Given the description of an element on the screen output the (x, y) to click on. 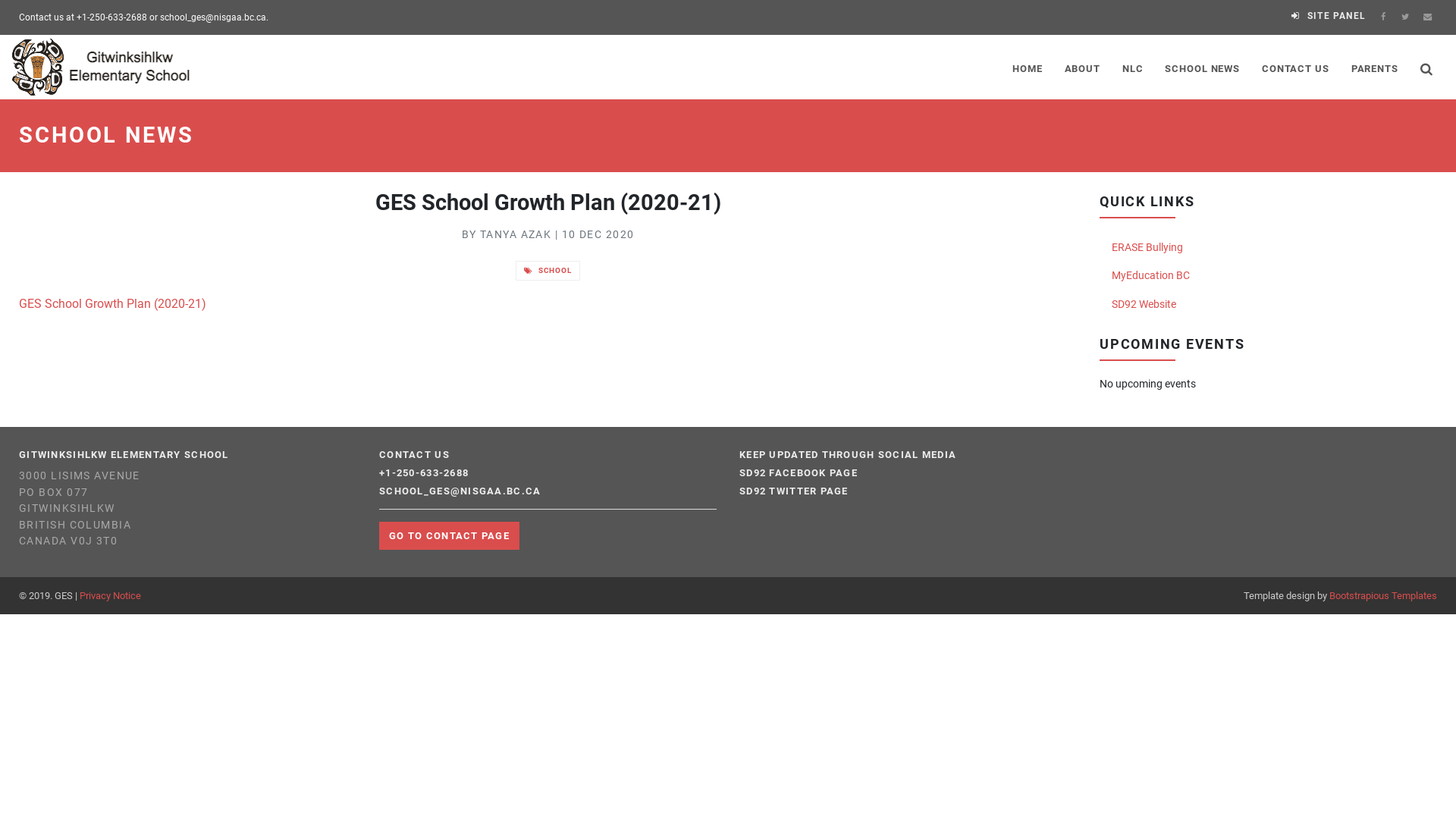
SCHOOL NEWS Element type: text (1202, 66)
Privacy Notice Element type: text (110, 595)
SCHOOL Element type: text (547, 270)
GO TO CONTACT PAGE Element type: text (449, 535)
SD92 FACEBOOK PAGE Element type: text (798, 472)
GES School Growth Plan (2020-21) Element type: text (112, 303)
ABOUT Element type: text (1081, 66)
CONTACT US Element type: text (1295, 66)
Bootstrapious Templates Element type: text (1383, 595)
SITE PANEL Element type: text (1328, 15)
MyEducation BC Element type: text (1268, 275)
NLC Element type: text (1131, 66)
GES - go to homepage Element type: text (103, 66)
SCHOOL_GES@NISGAA.BC.CA Element type: text (459, 491)
SD92 TWITTER PAGE Element type: text (793, 491)
SD92 Website Element type: text (1268, 304)
HOME Element type: text (1027, 66)
PARENTS Element type: text (1373, 66)
ERASE Bullying Element type: text (1268, 247)
